Given the description of an element on the screen output the (x, y) to click on. 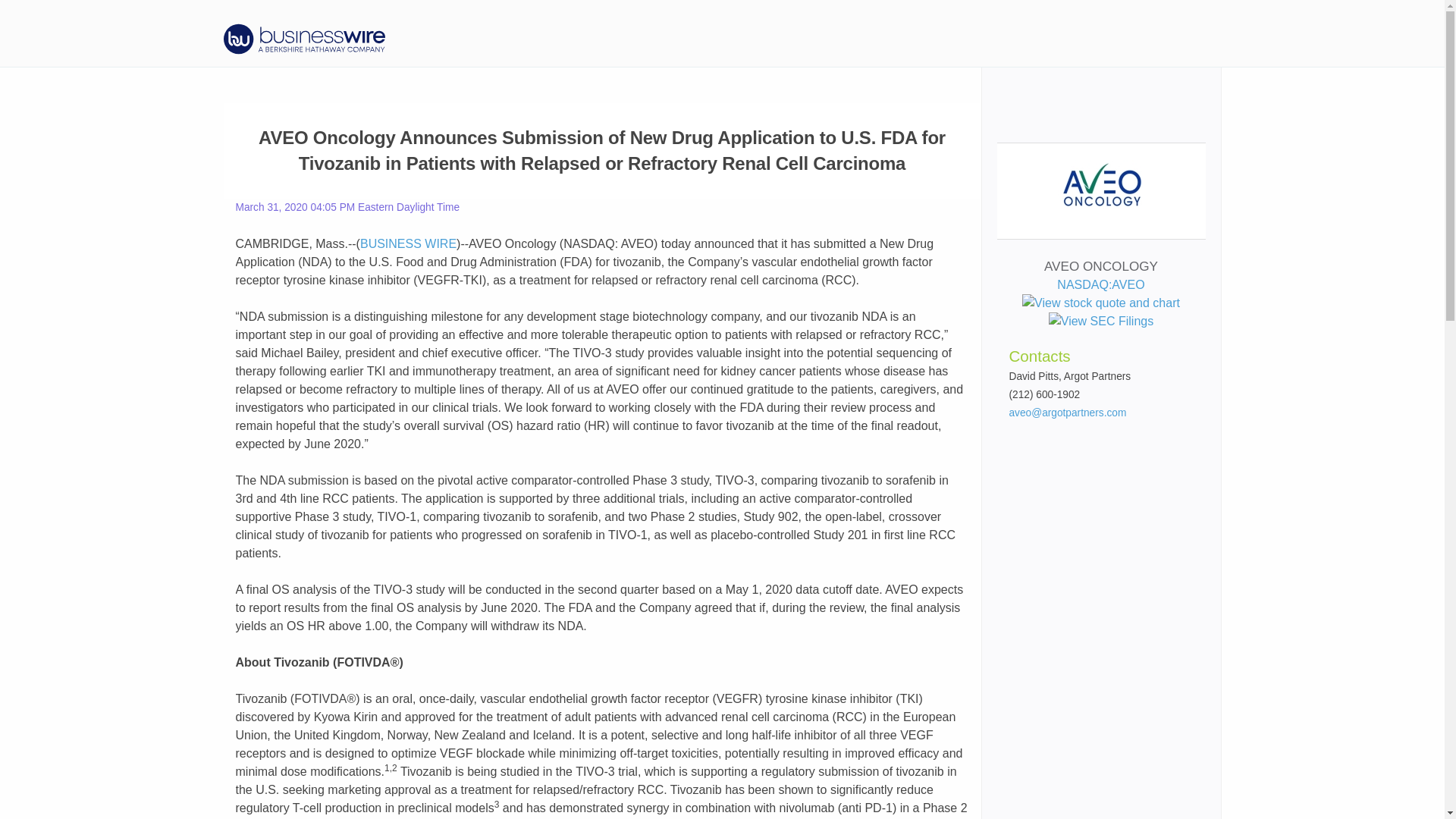
BUSINESS WIRE (408, 243)
NASDAQ:AVEO (1100, 293)
View SEC Filings (1100, 321)
View stock quote and chart (1100, 303)
